Given the description of an element on the screen output the (x, y) to click on. 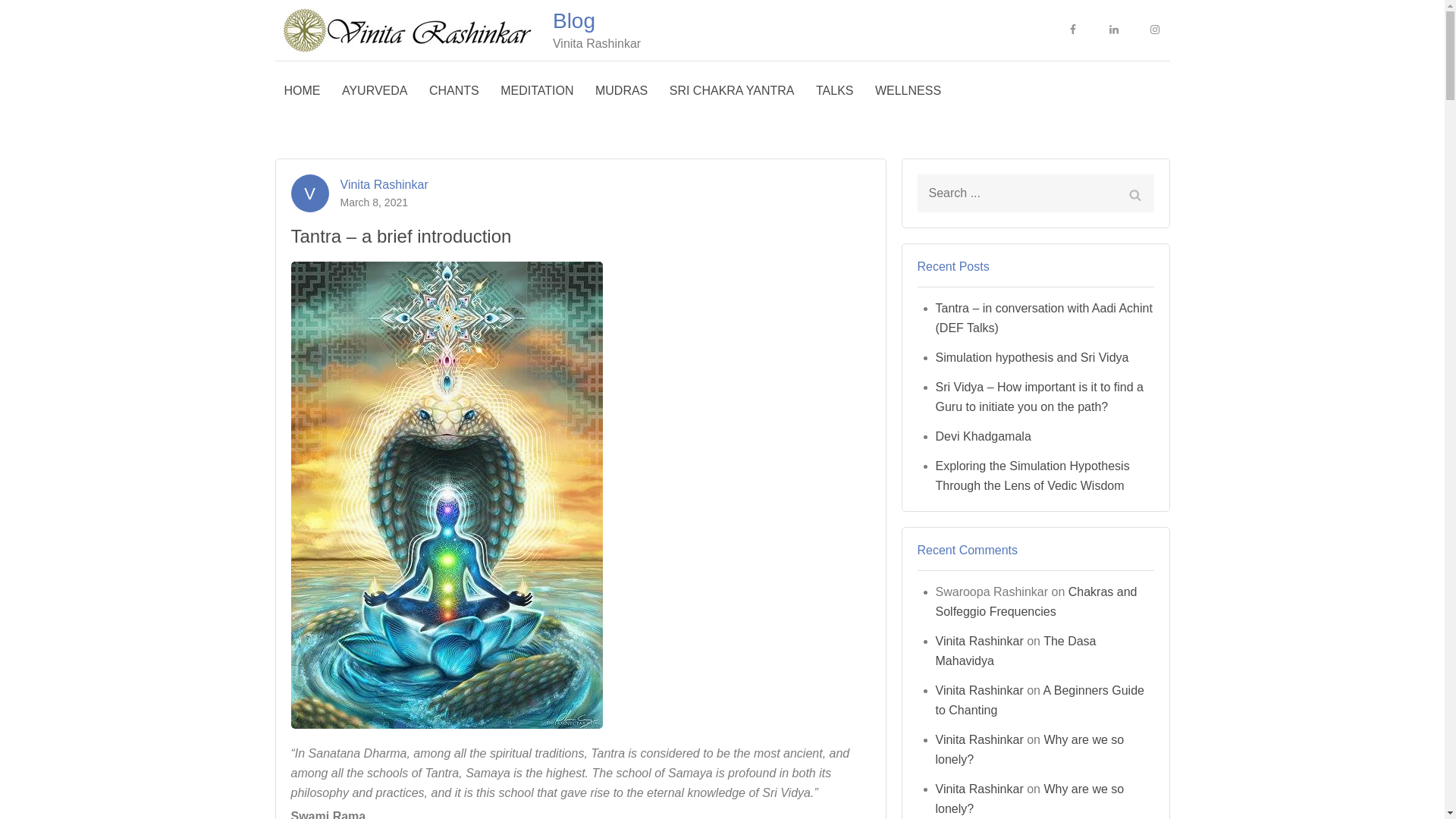
WELLNESS (908, 90)
MEDITATION (537, 90)
Blog (574, 20)
AYURVEDA (374, 90)
SRI CHAKRA YANTRA (732, 90)
Instagram (1153, 30)
MUDRAS (621, 90)
March 8, 2021 (373, 202)
TALKS (834, 90)
Linkedin (1112, 30)
HOME (302, 90)
Search for: (1035, 193)
CHANTS (453, 90)
Facebook (1072, 30)
Vinita Rashinkar (383, 182)
